Given the description of an element on the screen output the (x, y) to click on. 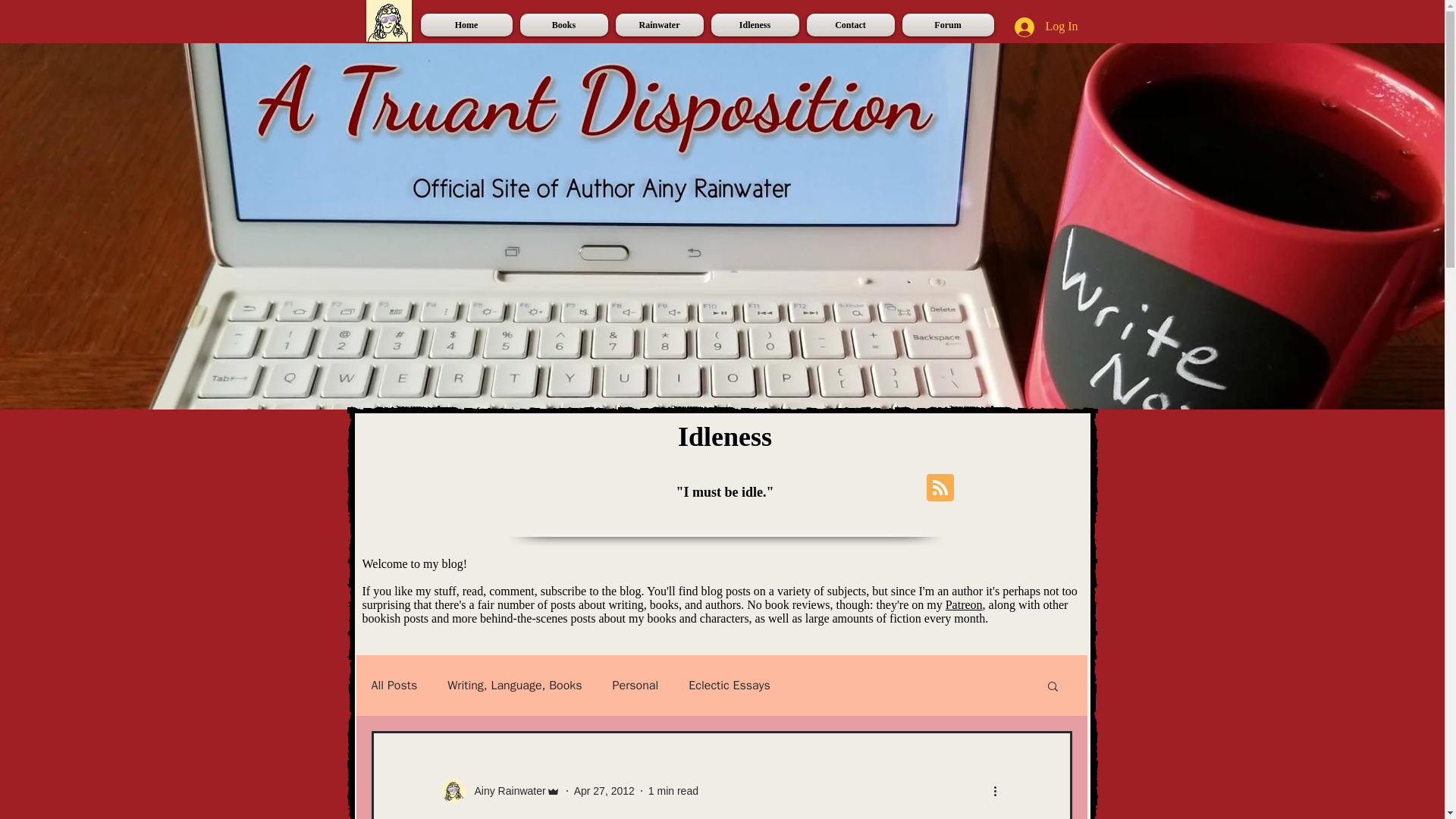
Ainy Rainwater (505, 790)
Log In (1045, 26)
Patreon (963, 604)
Writing, Language, Books (513, 685)
Ainy Rainwater (500, 790)
All Posts (394, 685)
Books (563, 24)
1 min read (672, 789)
Idleness (754, 24)
Eclectic Essays (729, 685)
Contact (850, 24)
Apr 27, 2012 (603, 789)
Forum (945, 24)
Rainwater (658, 24)
Personal (635, 685)
